Given the description of an element on the screen output the (x, y) to click on. 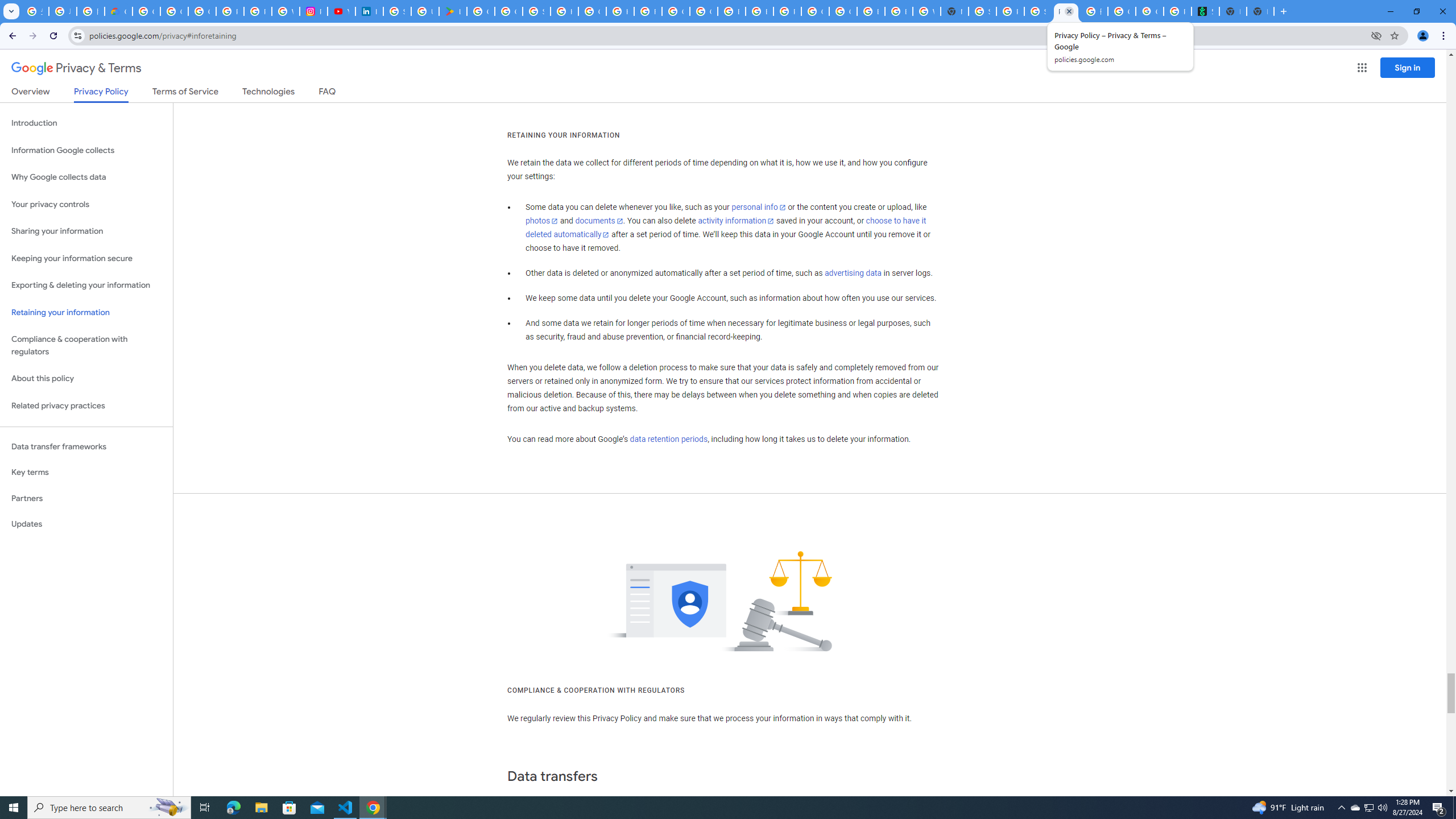
photos (542, 221)
Exporting & deleting your information (86, 284)
Google Cloud Platform (842, 11)
data retention periods (667, 439)
Introduction (86, 122)
Information Google collects (86, 150)
About this policy (86, 379)
Overview (30, 93)
Sharing your information (86, 230)
Compliance & cooperation with regulators (86, 345)
